Given the description of an element on the screen output the (x, y) to click on. 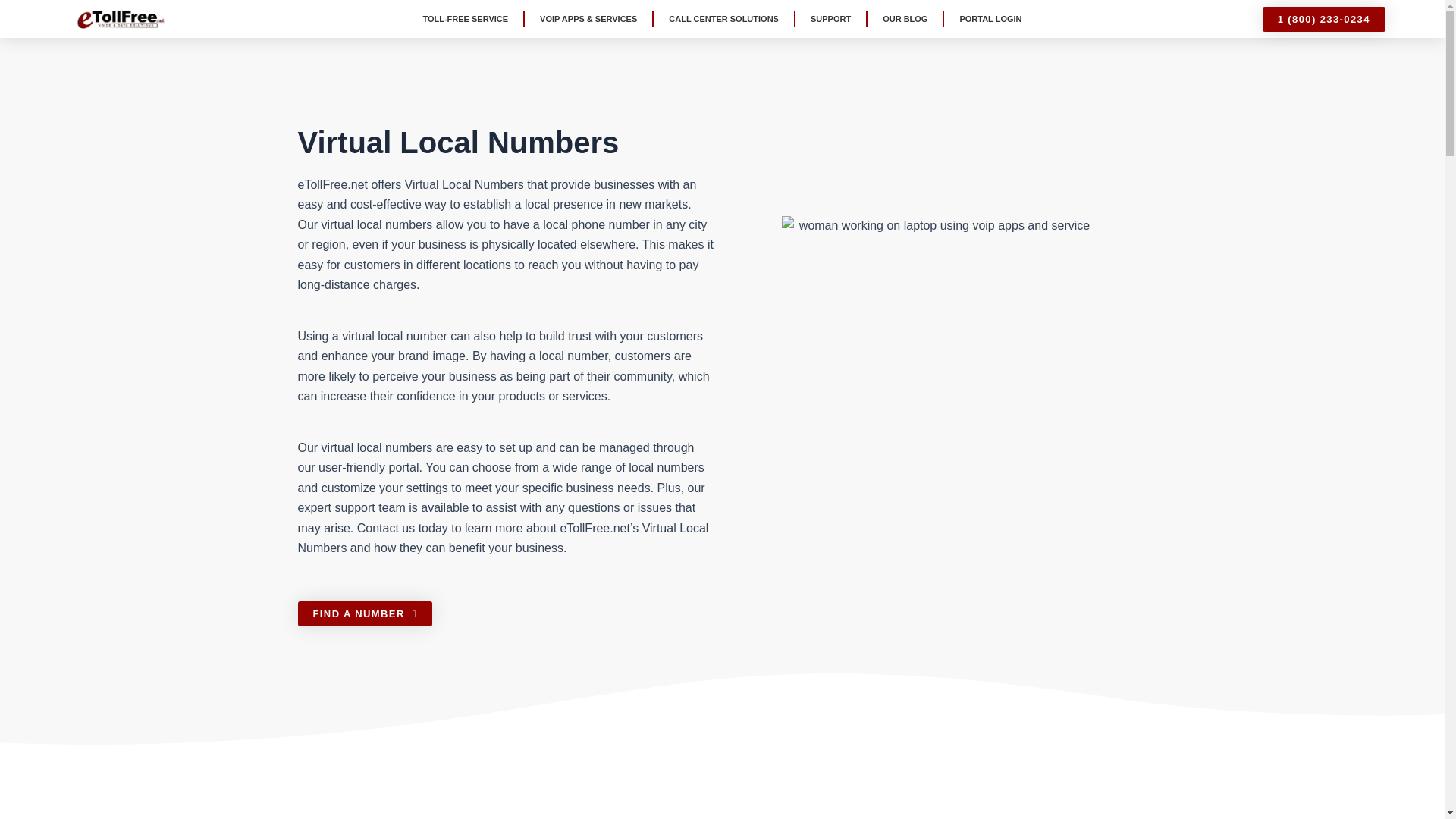
TOLL-FREE SERVICE (464, 18)
CALL CENTER SOLUTIONS (723, 18)
PORTAL LOGIN (989, 18)
OUR BLOG (904, 18)
SUPPORT (830, 18)
